Given the description of an element on the screen output the (x, y) to click on. 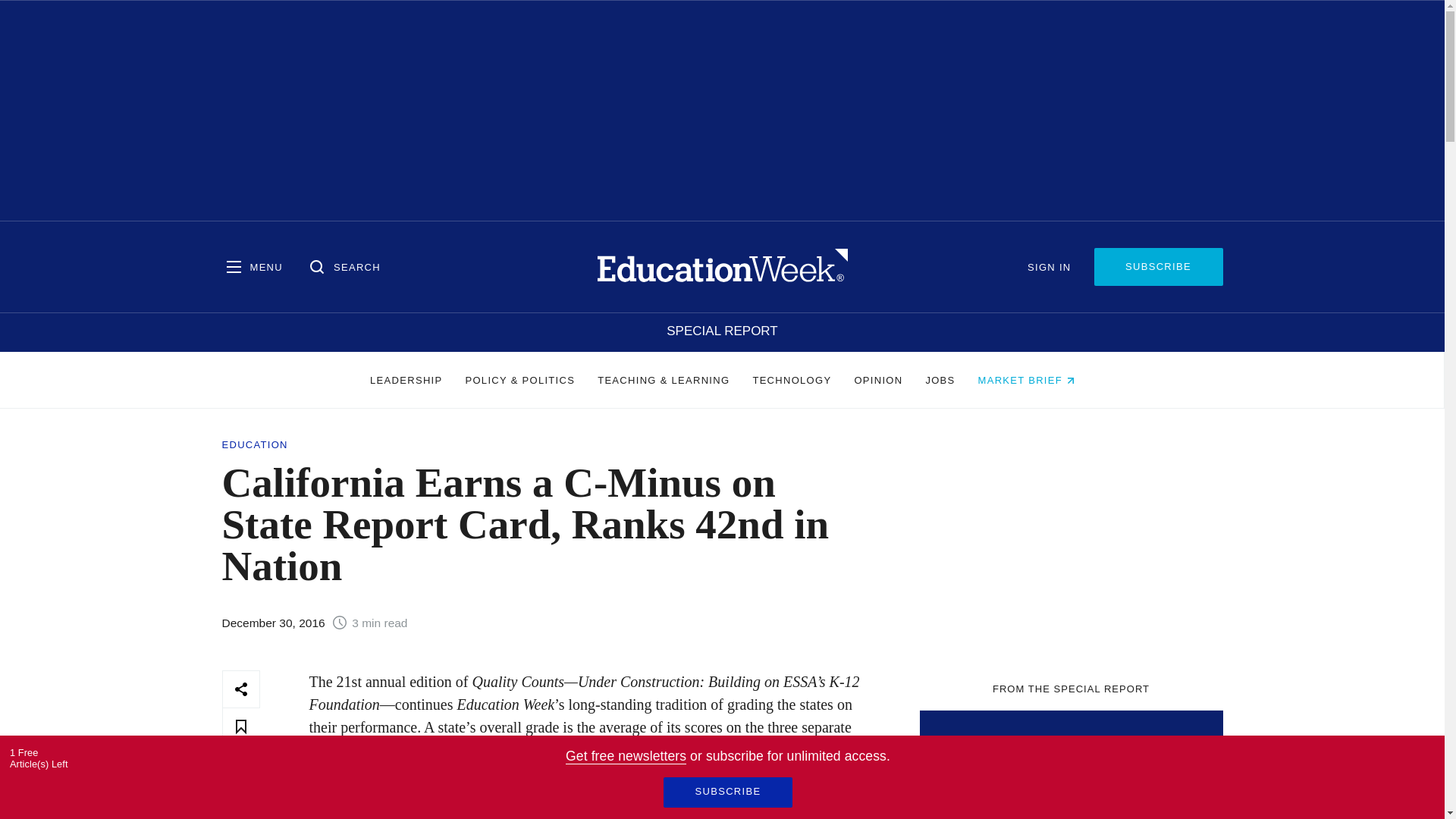
Homepage (721, 266)
